Given the description of an element on the screen output the (x, y) to click on. 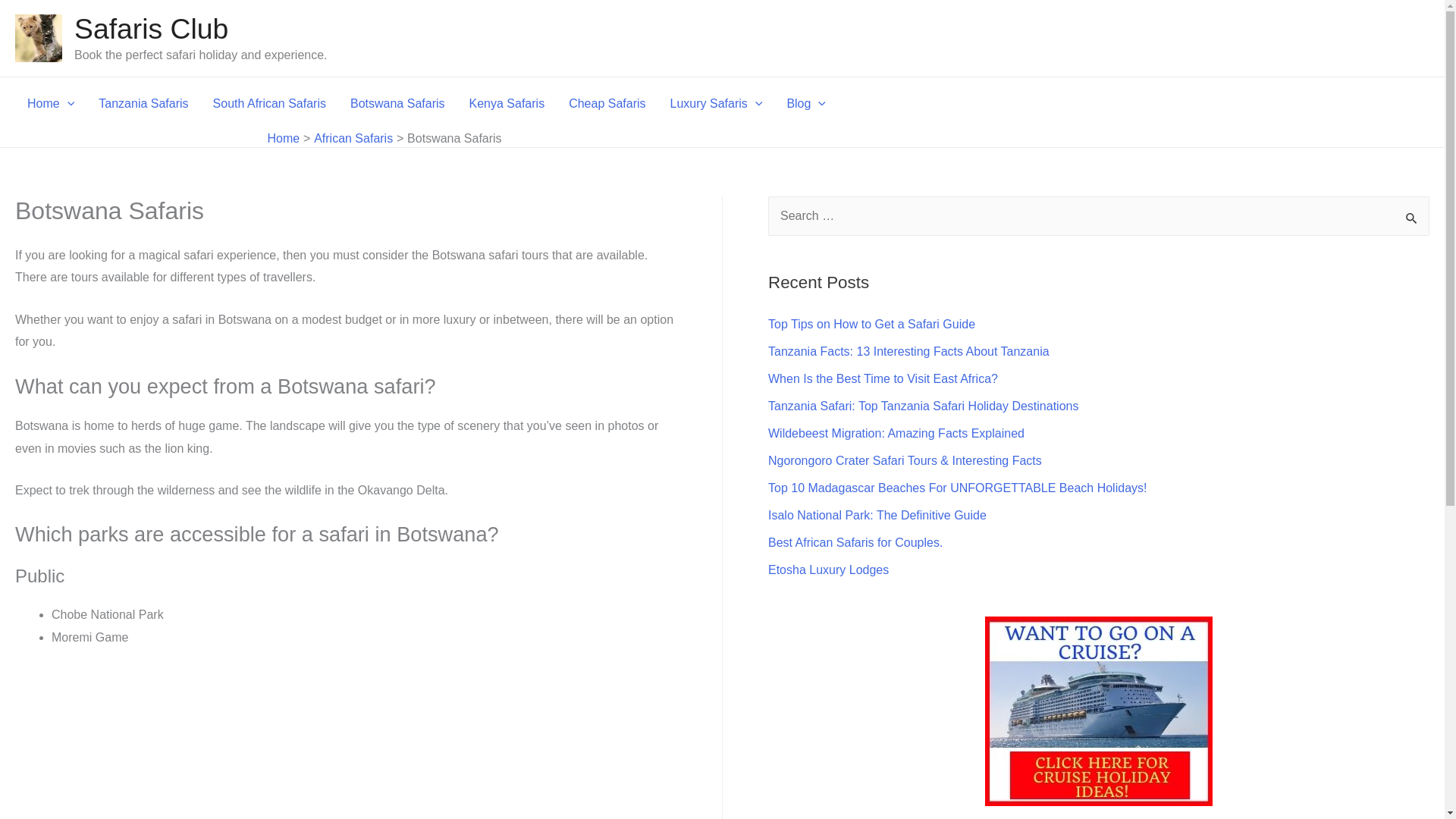
Luxury Safaris (716, 103)
Blog (806, 103)
Cheap Safaris (607, 103)
South African Safaris (268, 103)
Kenya Safaris (507, 103)
Home (49, 103)
Botswana Safaris (397, 103)
Tanzania Safaris (142, 103)
Safaris Club (151, 29)
